Given the description of an element on the screen output the (x, y) to click on. 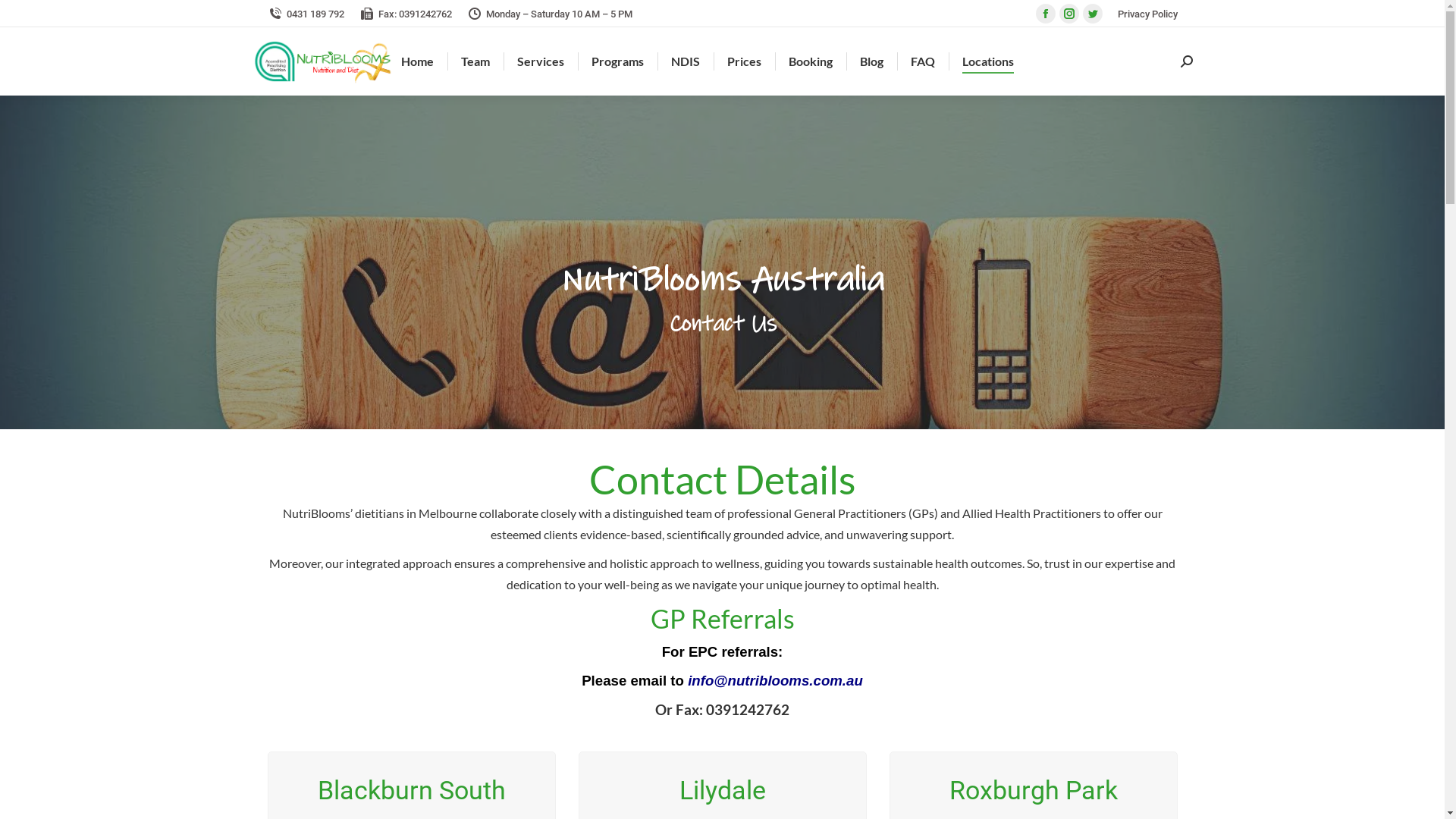
Booking Element type: text (810, 60)
NDIS Element type: text (685, 60)
Twitter page opens in new window Element type: text (1092, 13)
Programs Element type: text (617, 60)
Locations Element type: text (987, 60)
Services Element type: text (540, 60)
Home Element type: text (417, 60)
Privacy Policy Element type: text (1147, 13)
Instagram page opens in new window Element type: text (1068, 13)
Blog Element type: text (871, 60)
Team Element type: text (475, 60)
FAQ Element type: text (922, 60)
Facebook page opens in new window Element type: text (1045, 13)
0431 189 792 Element type: text (304, 13)
Fax: 0391242762 Element type: text (405, 13)
Go! Element type: text (25, 17)
Prices Element type: text (744, 60)
